Given the description of an element on the screen output the (x, y) to click on. 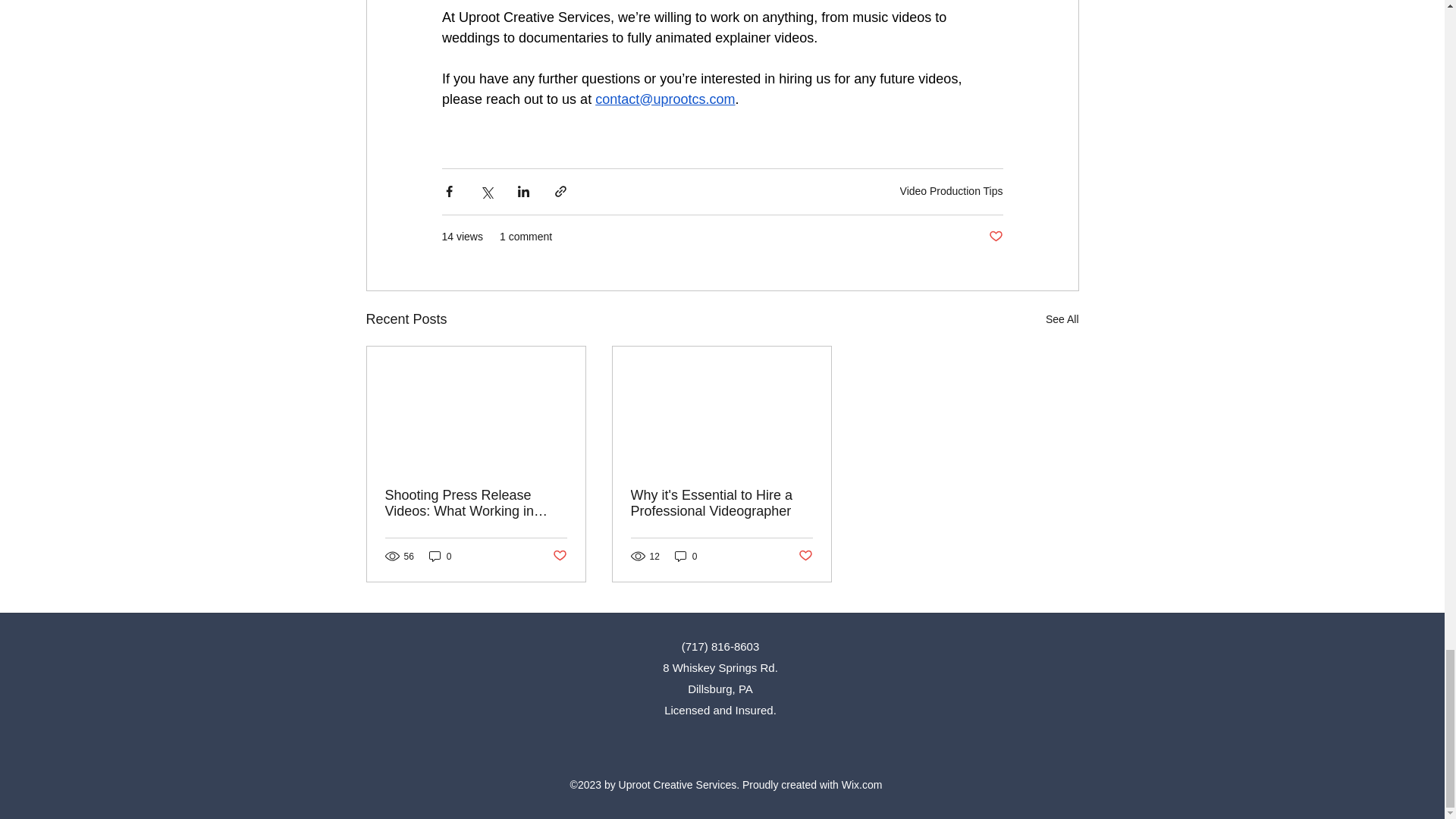
Post not marked as liked (558, 555)
Post not marked as liked (995, 236)
See All (1061, 319)
0 (440, 555)
Video Production Tips (951, 191)
